Given the description of an element on the screen output the (x, y) to click on. 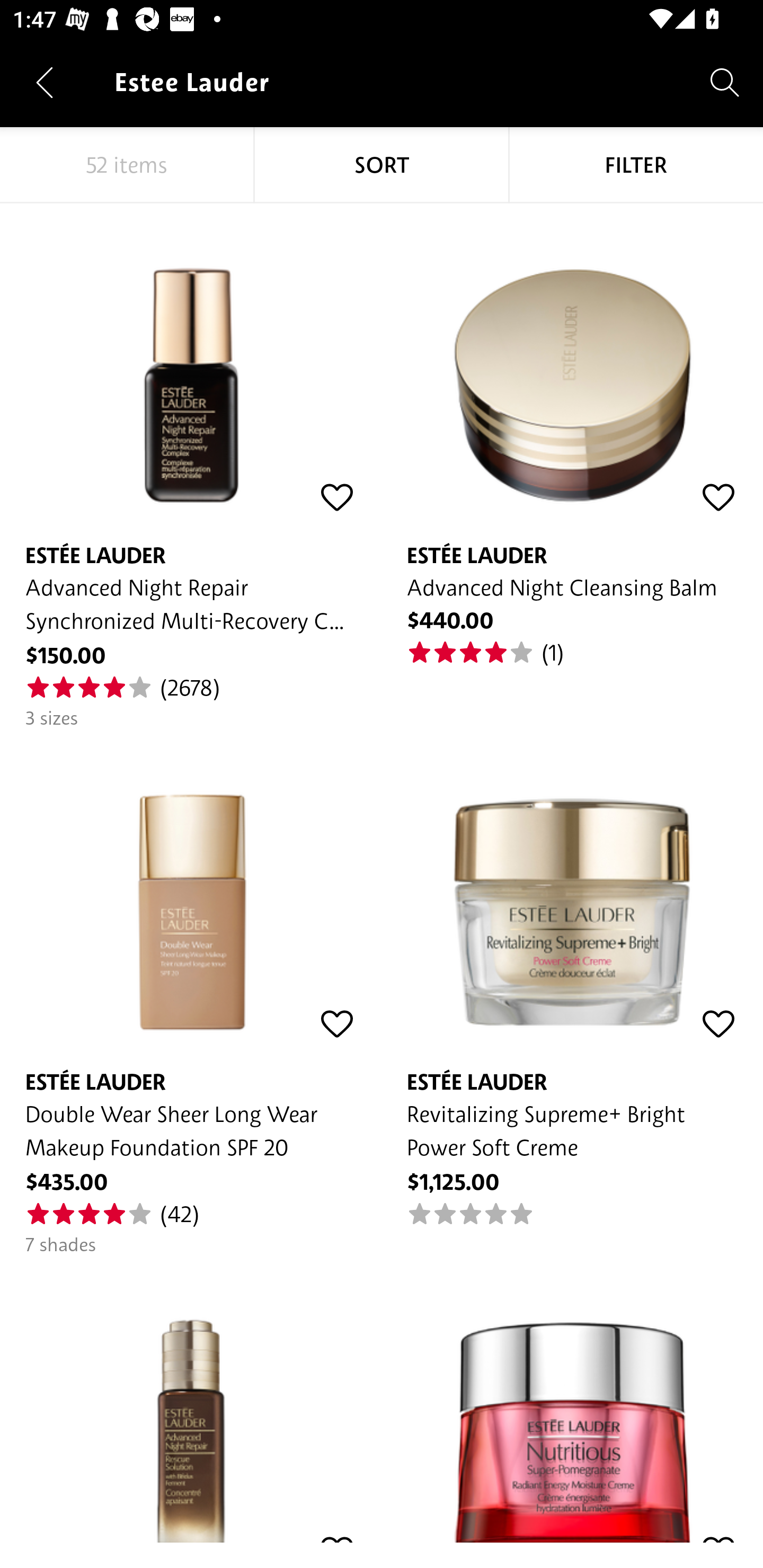
Navigate up (44, 82)
Search (724, 81)
SORT (381, 165)
FILTER (636, 165)
